Given the description of an element on the screen output the (x, y) to click on. 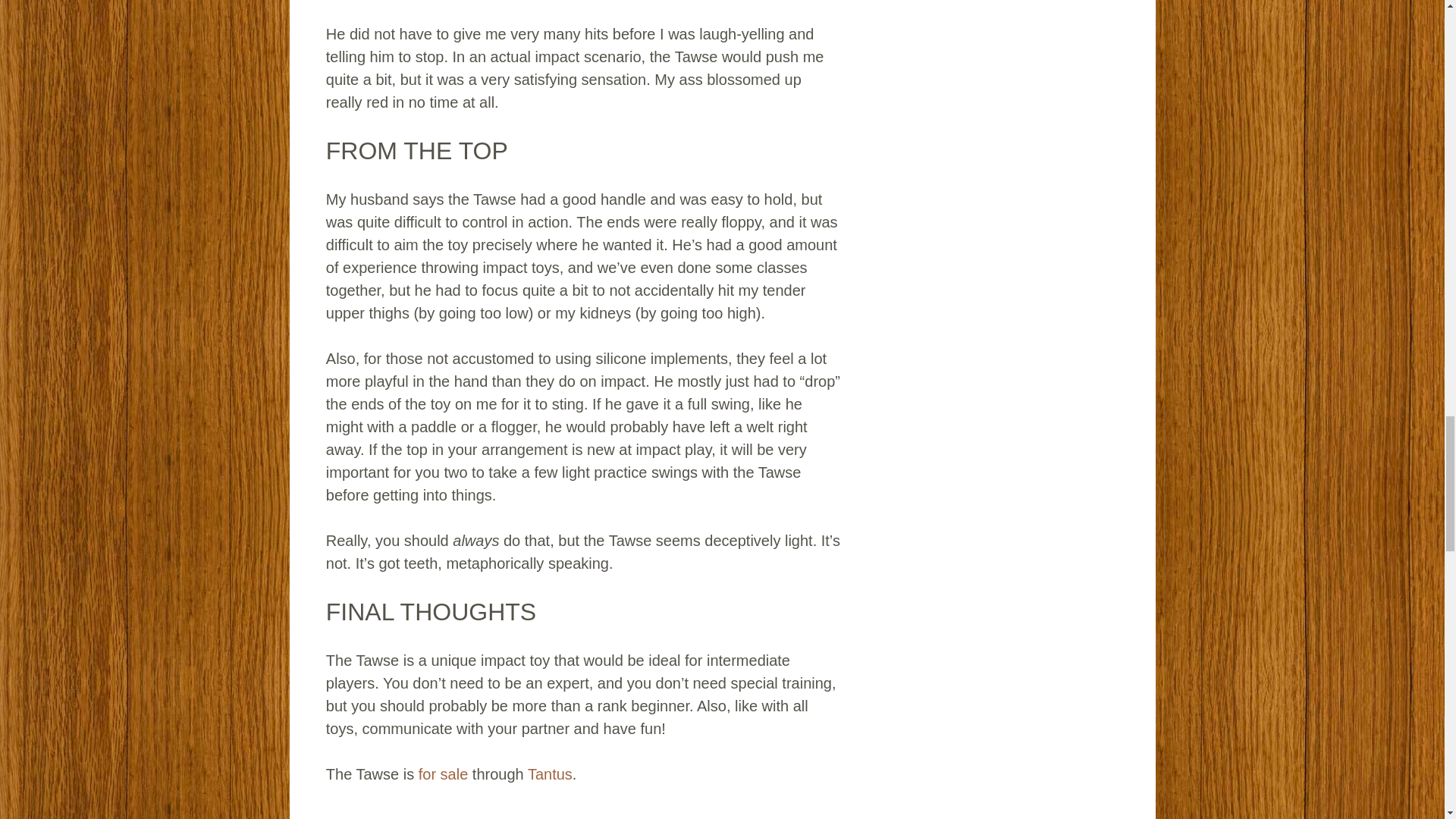
Tantus (549, 773)
for sale (443, 773)
